Given the description of an element on the screen output the (x, y) to click on. 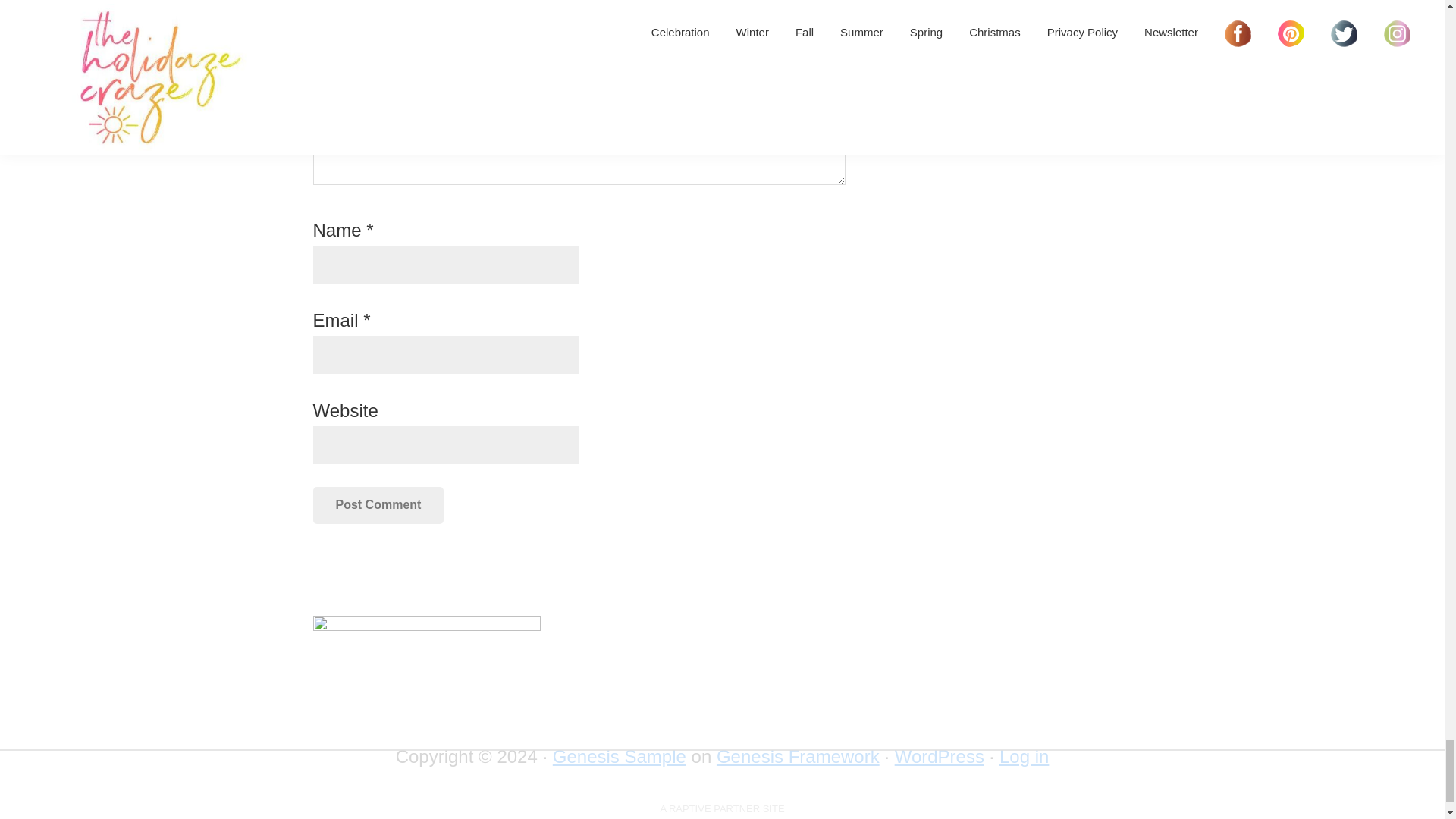
Post Comment (378, 504)
